Given the description of an element on the screen output the (x, y) to click on. 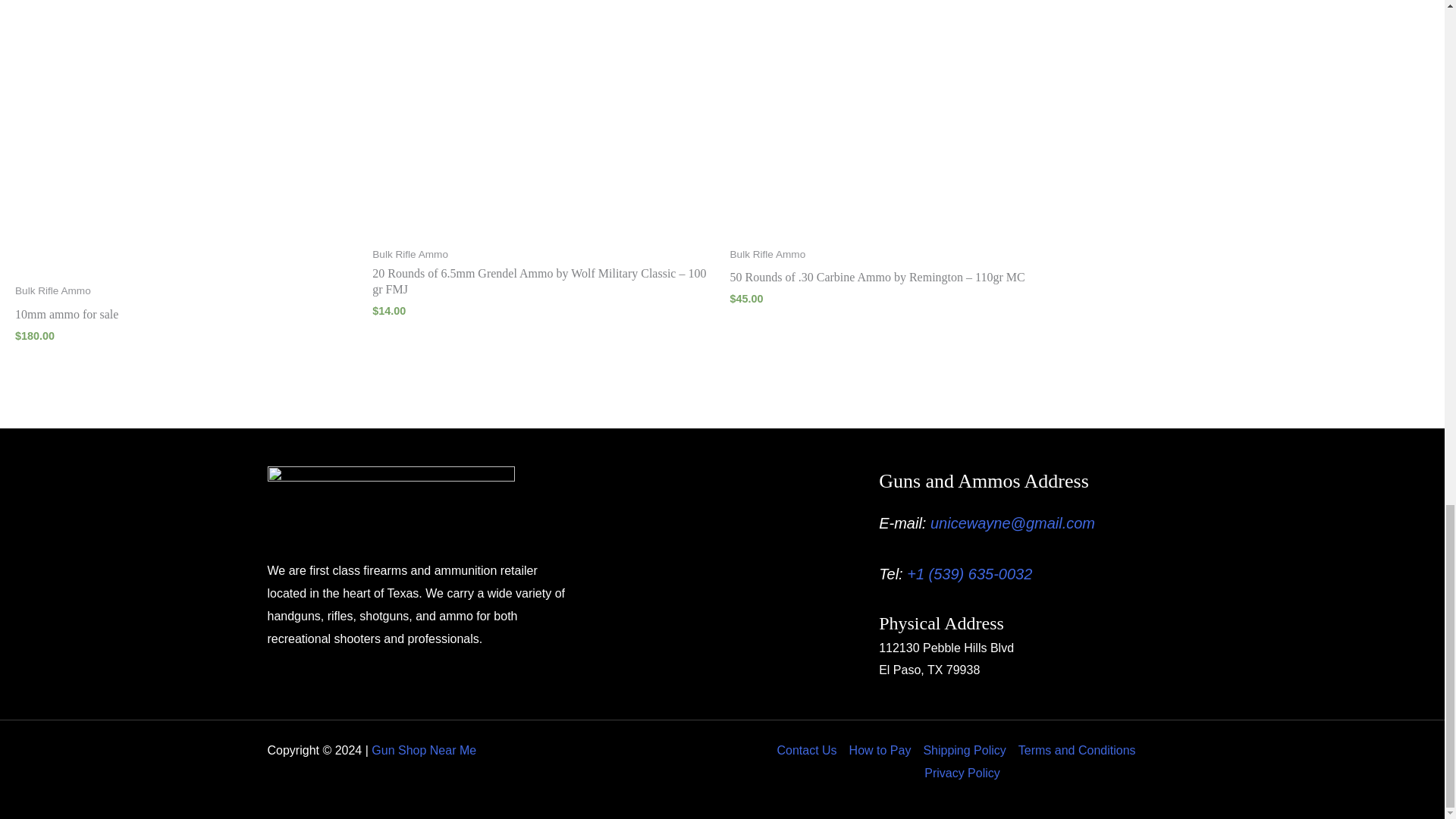
Gun Shop Near Me (423, 749)
How to Pay (880, 749)
10mm ammo for sale (185, 318)
Shipping Policy (964, 749)
Contact Us (809, 749)
